Given the description of an element on the screen output the (x, y) to click on. 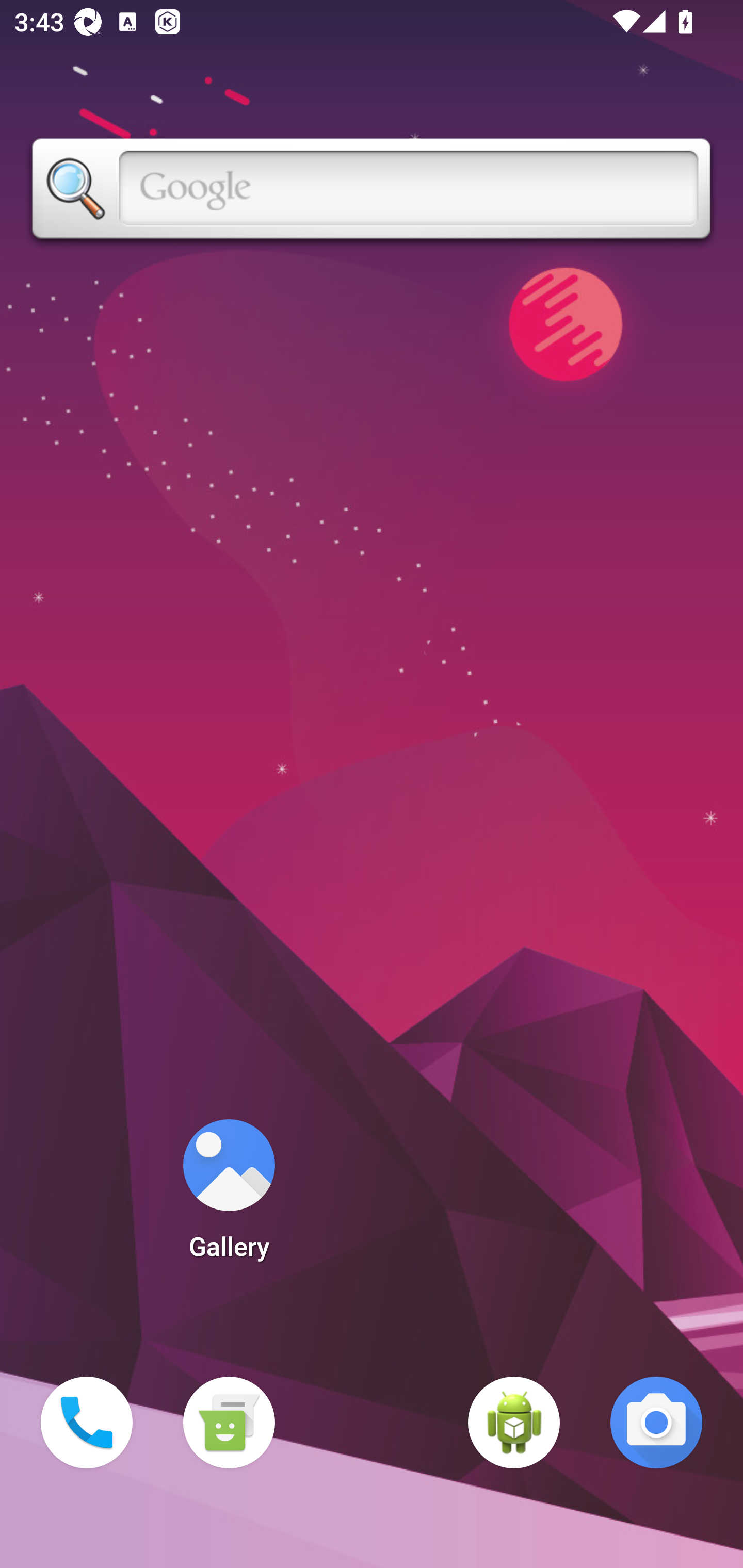
Gallery (228, 1195)
Phone (86, 1422)
Messaging (228, 1422)
WebView Browser Tester (513, 1422)
Camera (656, 1422)
